Given the description of an element on the screen output the (x, y) to click on. 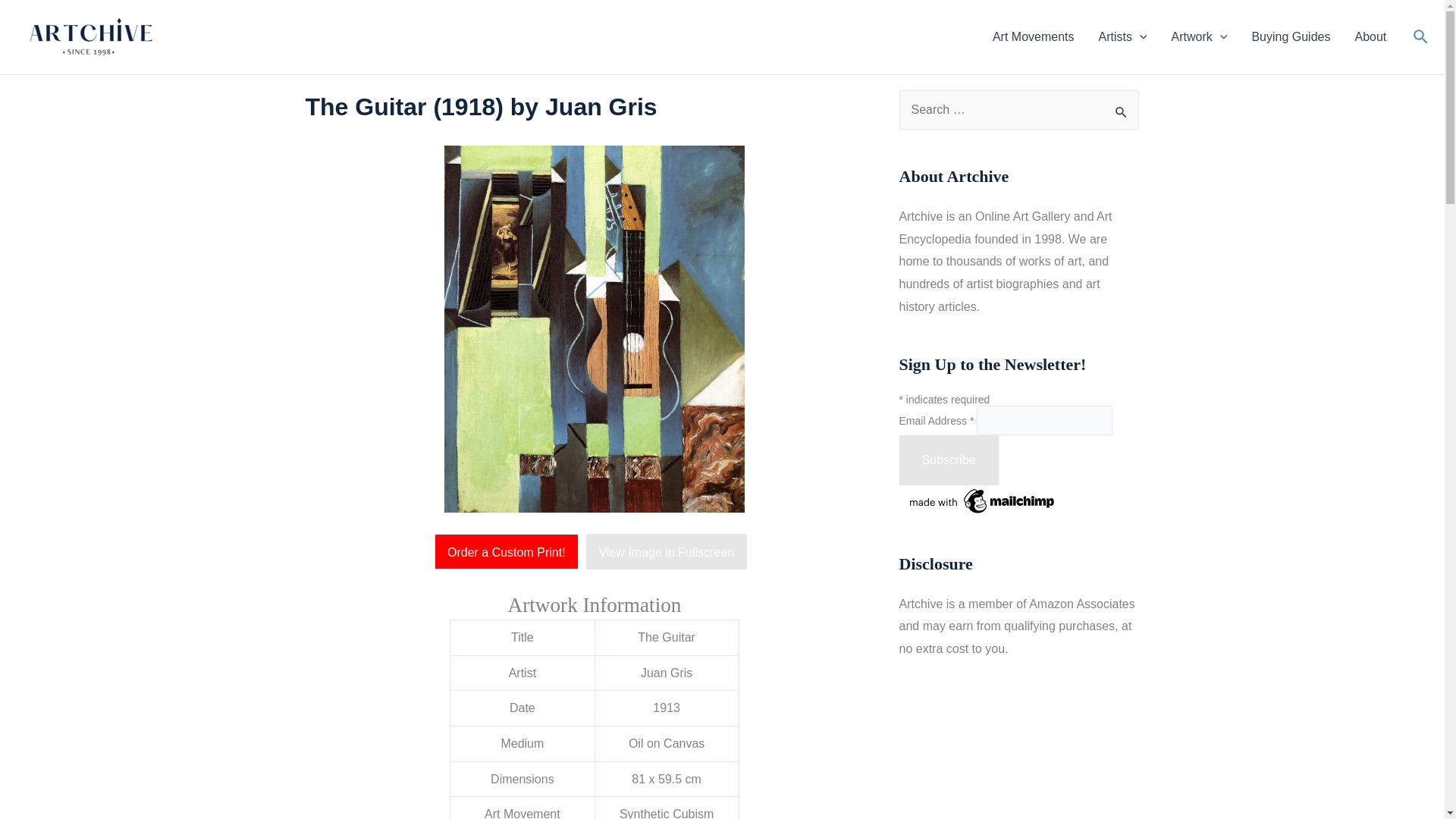
Subscribe (948, 459)
Order a Custom Print! (509, 552)
Art Movements (1032, 36)
About (1369, 36)
Artists (1122, 36)
3rd party ad content (1018, 756)
Artwork (1199, 36)
Buying Guides (1290, 36)
Mailchimp - email marketing made easy and fun (982, 500)
